Given the description of an element on the screen output the (x, y) to click on. 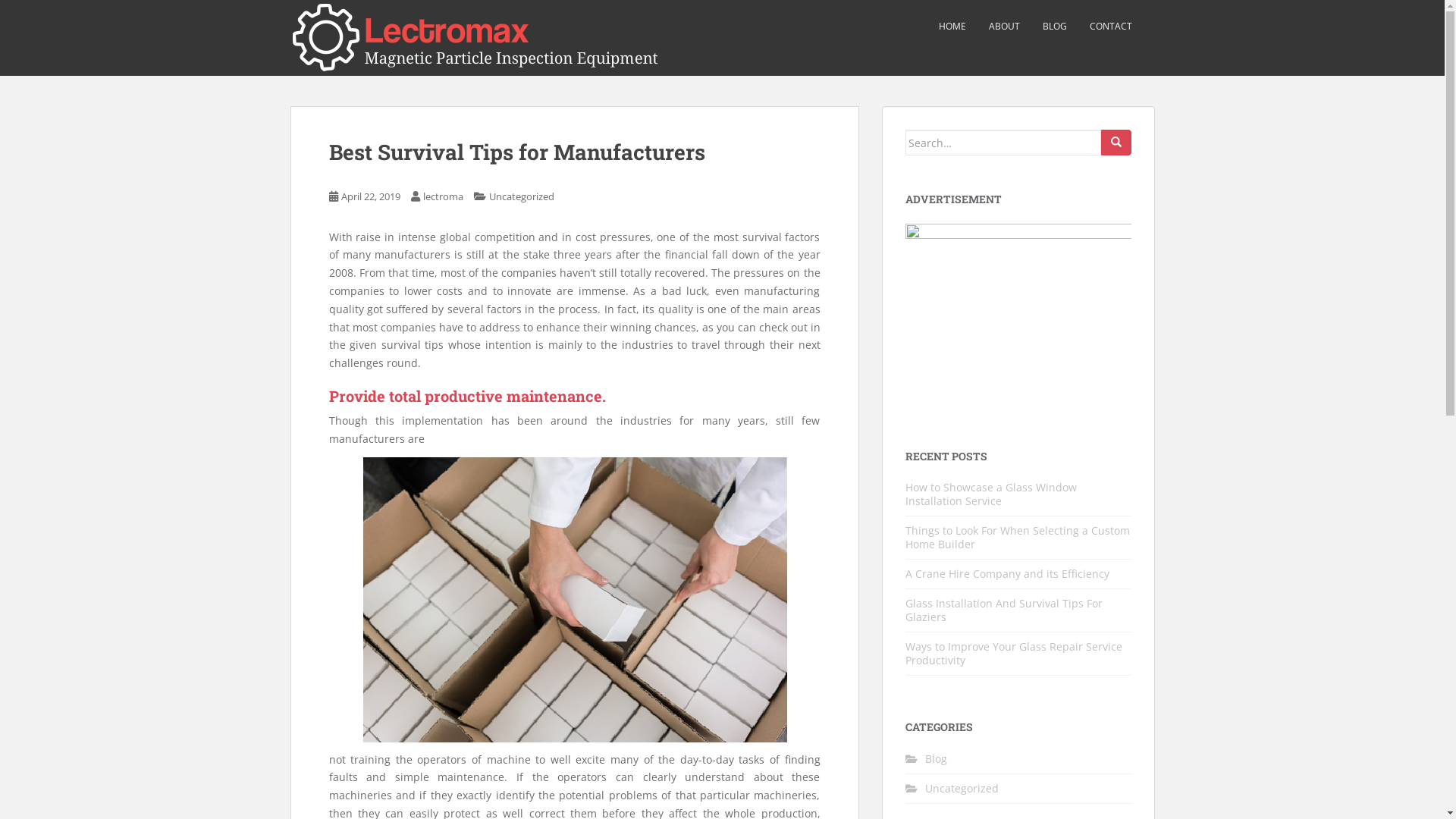
CONTACT Element type: text (1109, 26)
Uncategorized Element type: text (520, 196)
HOME Element type: text (952, 26)
BLOG Element type: text (1053, 26)
Search Element type: text (1116, 142)
Blog Element type: text (936, 757)
Ways to Improve Your Glass Repair Service Productivity Element type: text (1013, 653)
Uncategorized Element type: text (961, 788)
A Crane Hire Company and its Efficiency Element type: text (1007, 573)
Things to Look For When Selecting a Custom Home Builder Element type: text (1017, 537)
April 22, 2019 Element type: text (370, 196)
Search for: Element type: hover (1003, 142)
Glass Installation And Survival Tips For Glaziers Element type: text (1003, 610)
lectroma Element type: text (443, 196)
How to Showcase a Glass Window Installation Service Element type: text (990, 494)
ABOUT Element type: text (1003, 26)
